Given the description of an element on the screen output the (x, y) to click on. 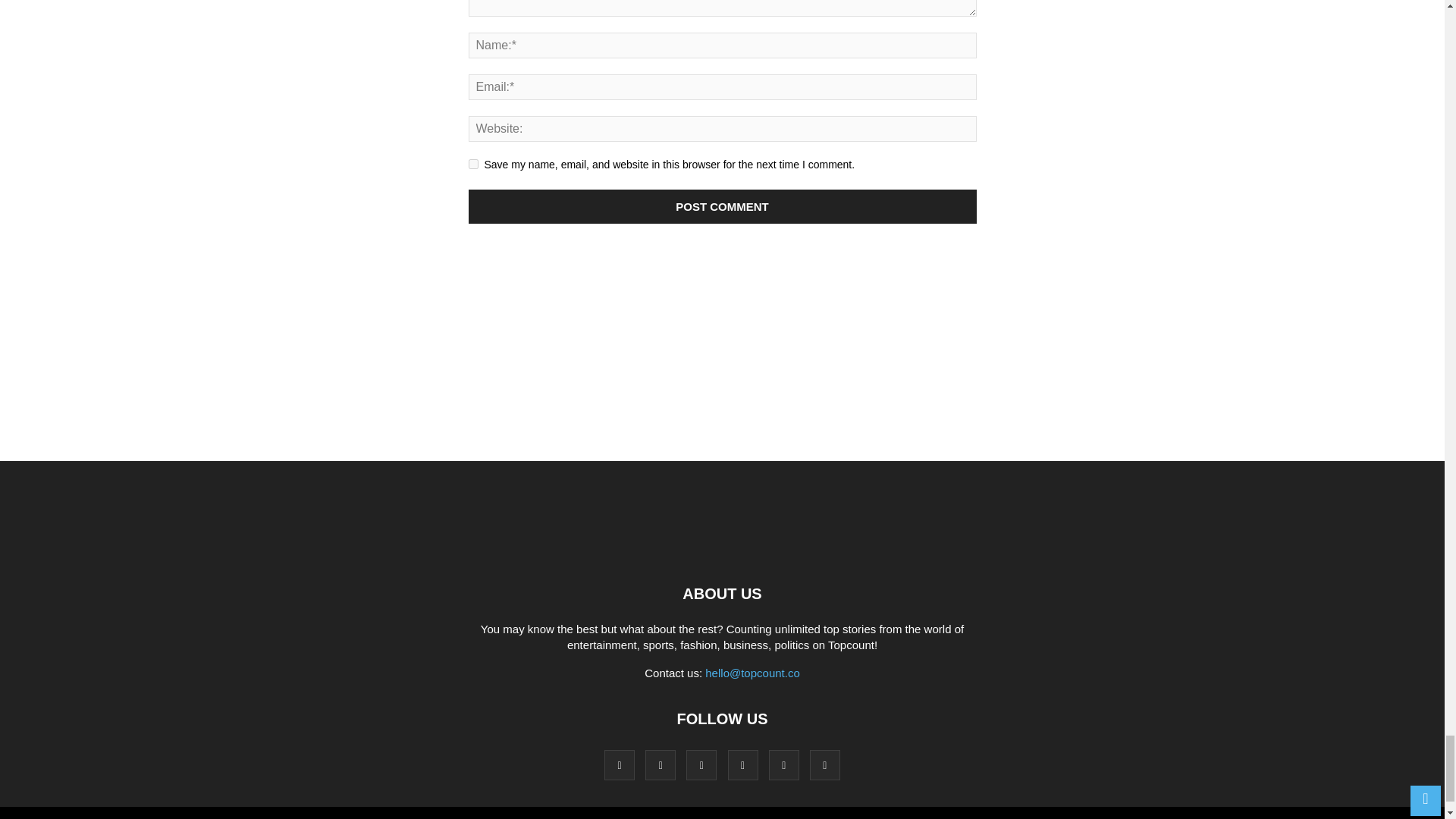
Post Comment (722, 206)
yes (473, 163)
Post Comment (722, 206)
